Given the description of an element on the screen output the (x, y) to click on. 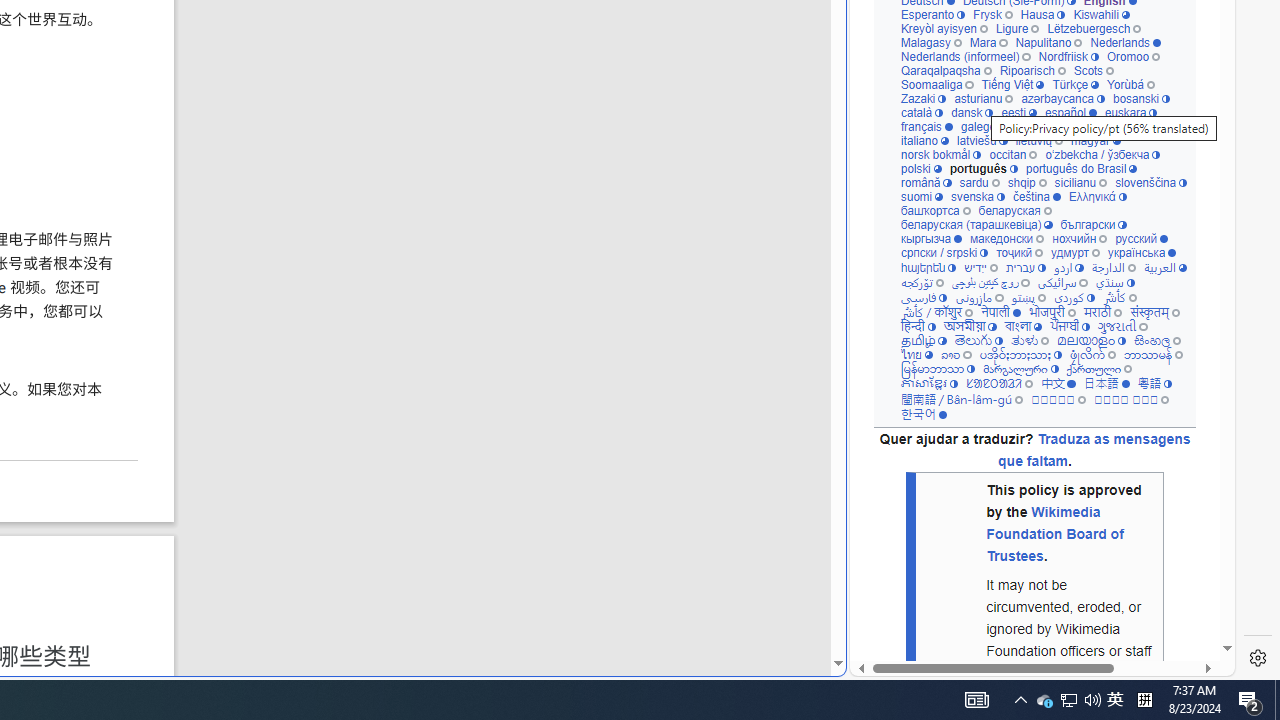
Esperanto (932, 14)
Nederlands (informeel) (964, 56)
Nordfriisk (1068, 56)
sicilianu (1080, 182)
magyar (1095, 140)
